Given the description of an element on the screen output the (x, y) to click on. 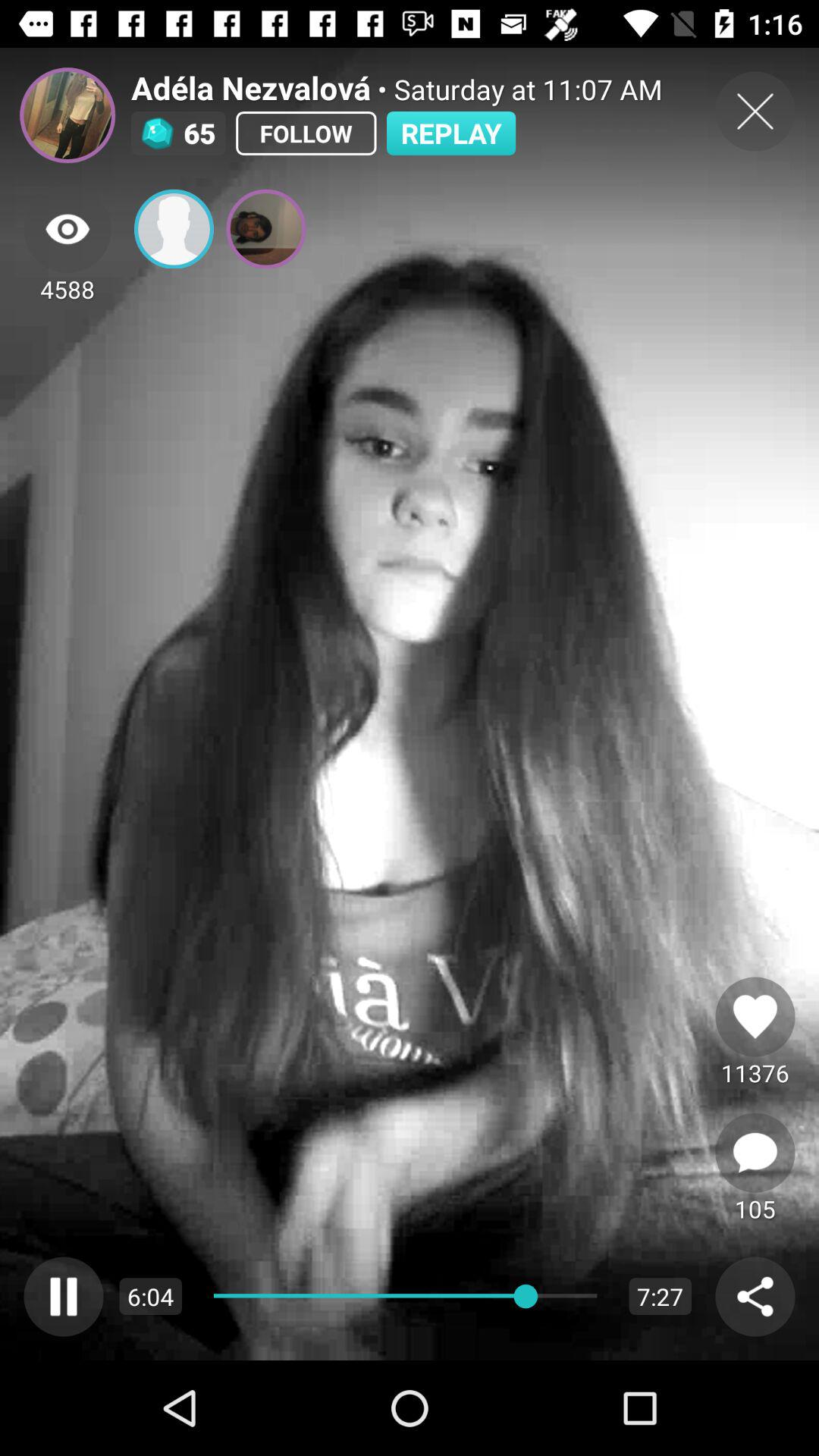
profile picture (67, 115)
